Given the description of an element on the screen output the (x, y) to click on. 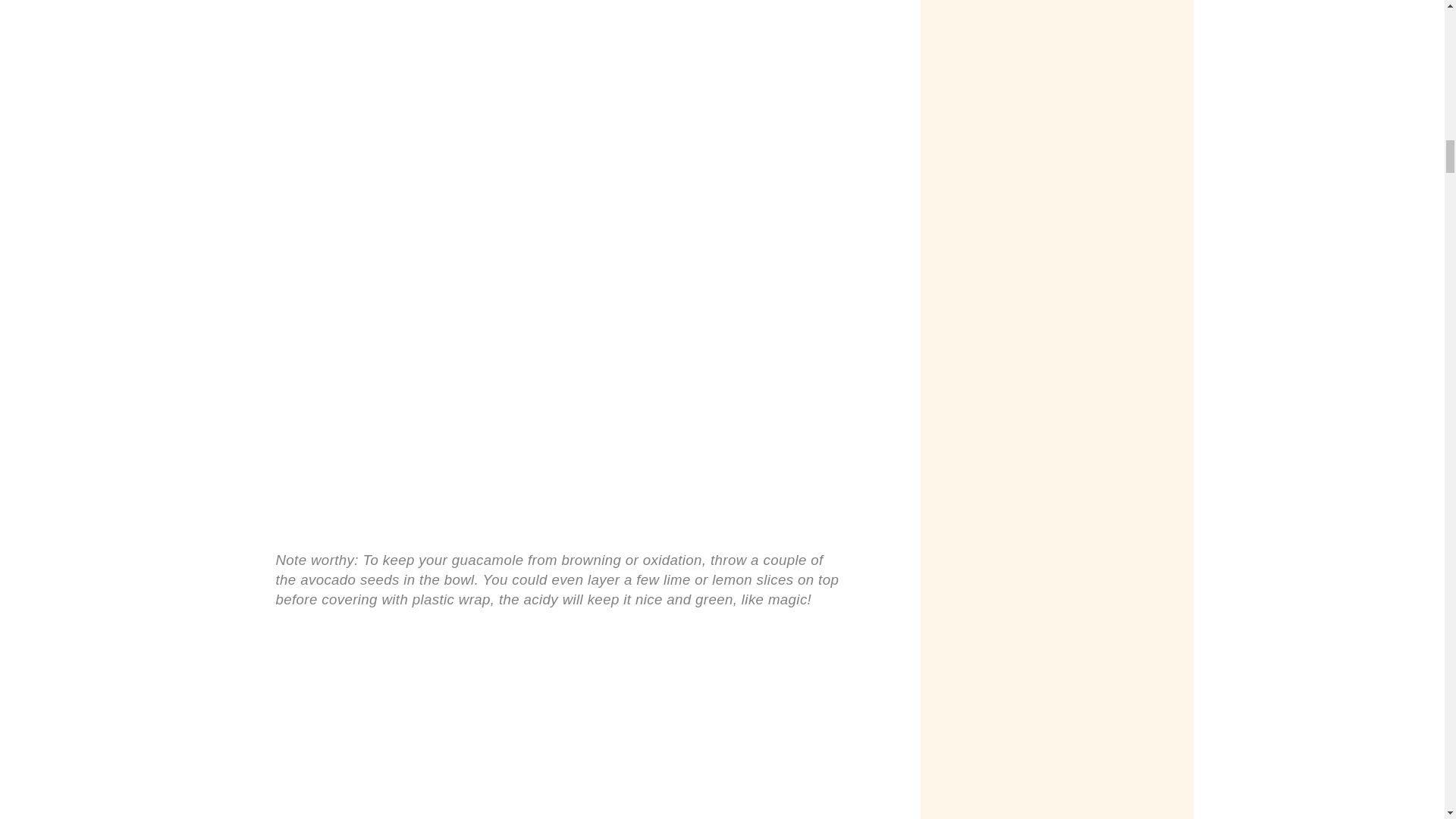
Large Bowl of Healthy Homemade Guacamole on a Rustic Table (560, 726)
